Given the description of an element on the screen output the (x, y) to click on. 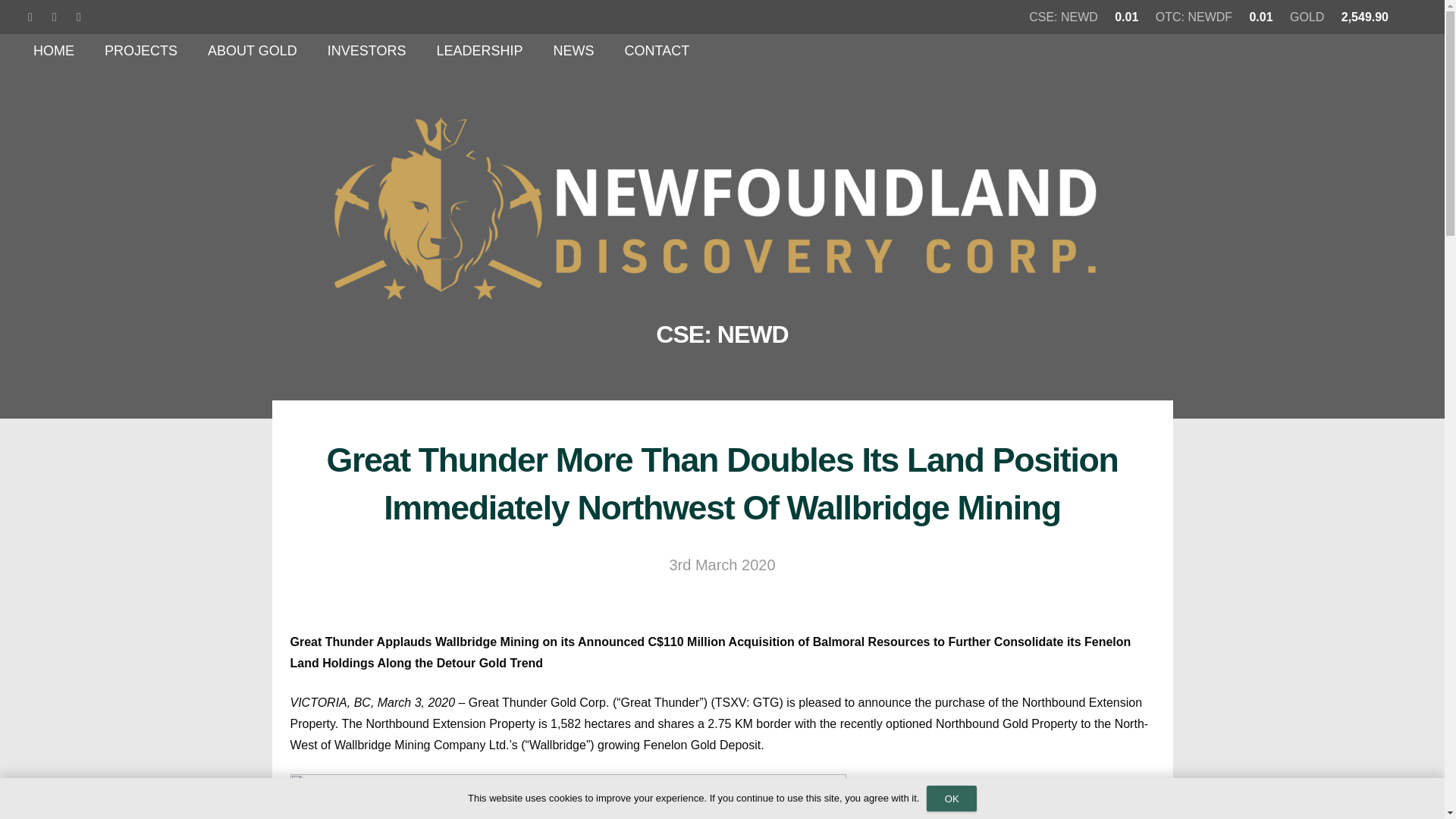
Facebook (78, 16)
HOME (52, 50)
NEWS (572, 50)
LEADERSHIP (478, 50)
ABOUT GOLD (252, 50)
OK (951, 798)
INVESTORS (367, 50)
LinkedIn (29, 16)
Twitter (54, 16)
CONTACT (656, 50)
